Given the description of an element on the screen output the (x, y) to click on. 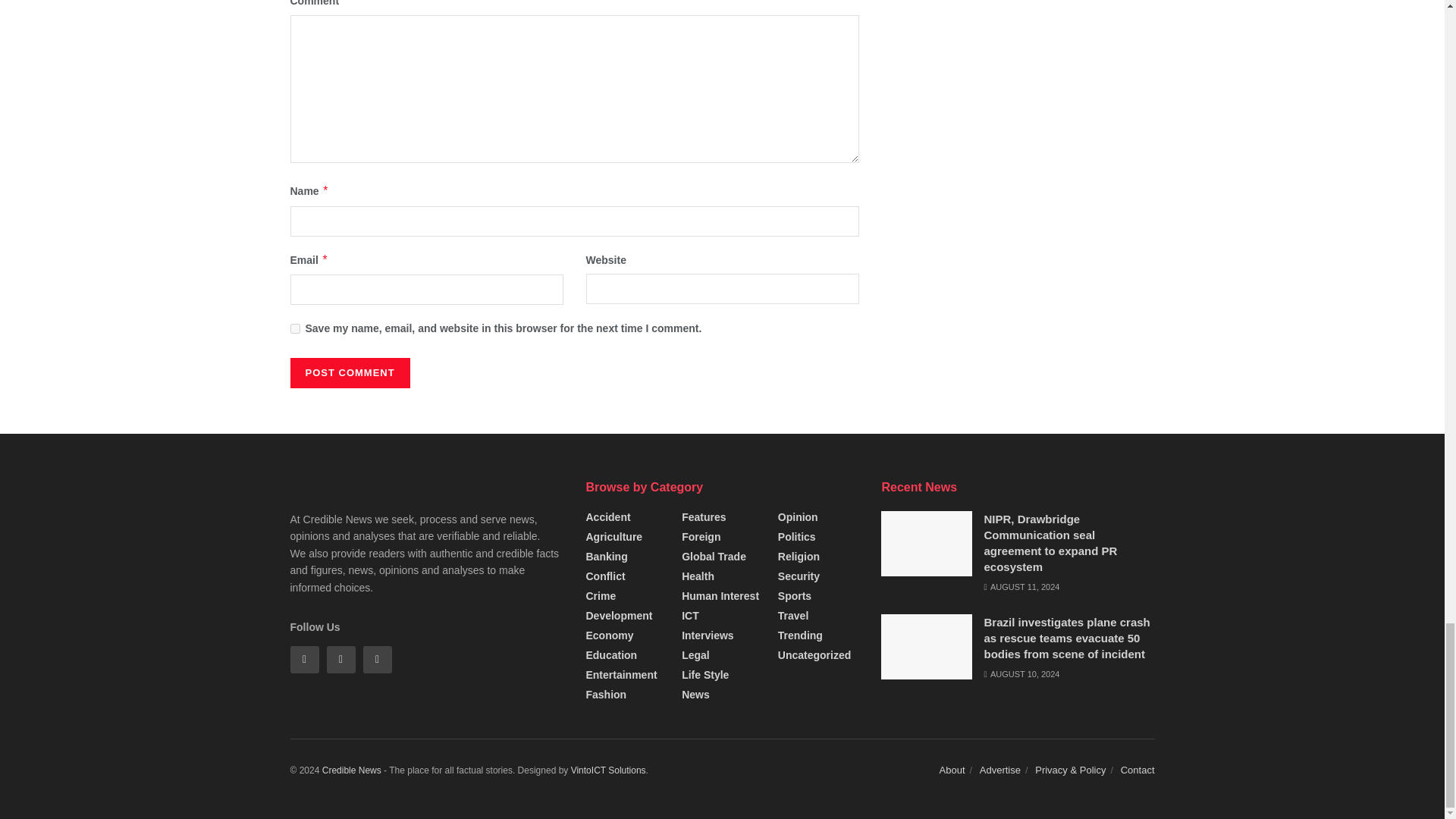
VintoICT (608, 769)
yes (294, 328)
Post Comment (349, 372)
